Given the description of an element on the screen output the (x, y) to click on. 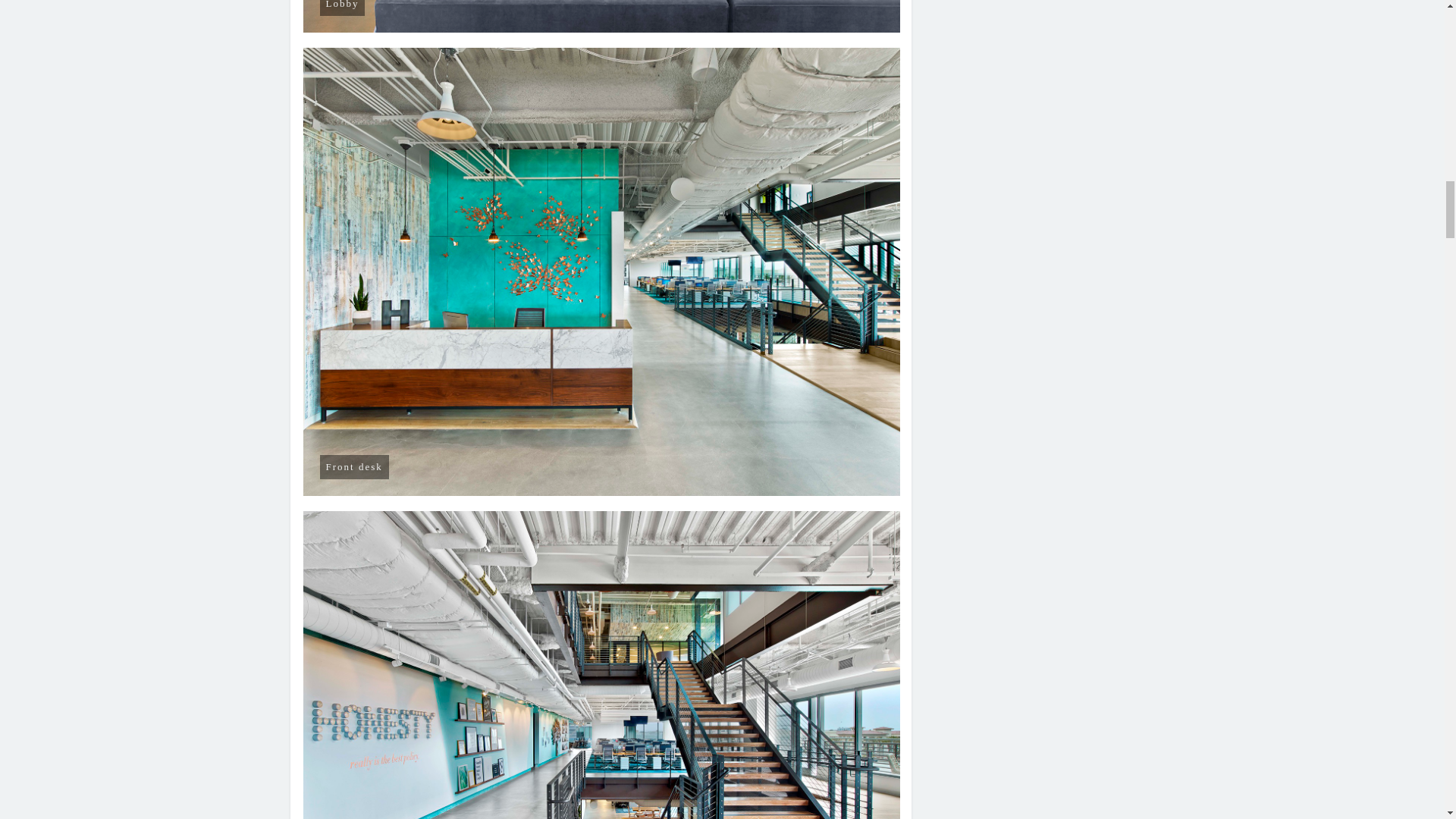
Lobby (601, 16)
